Given the description of an element on the screen output the (x, y) to click on. 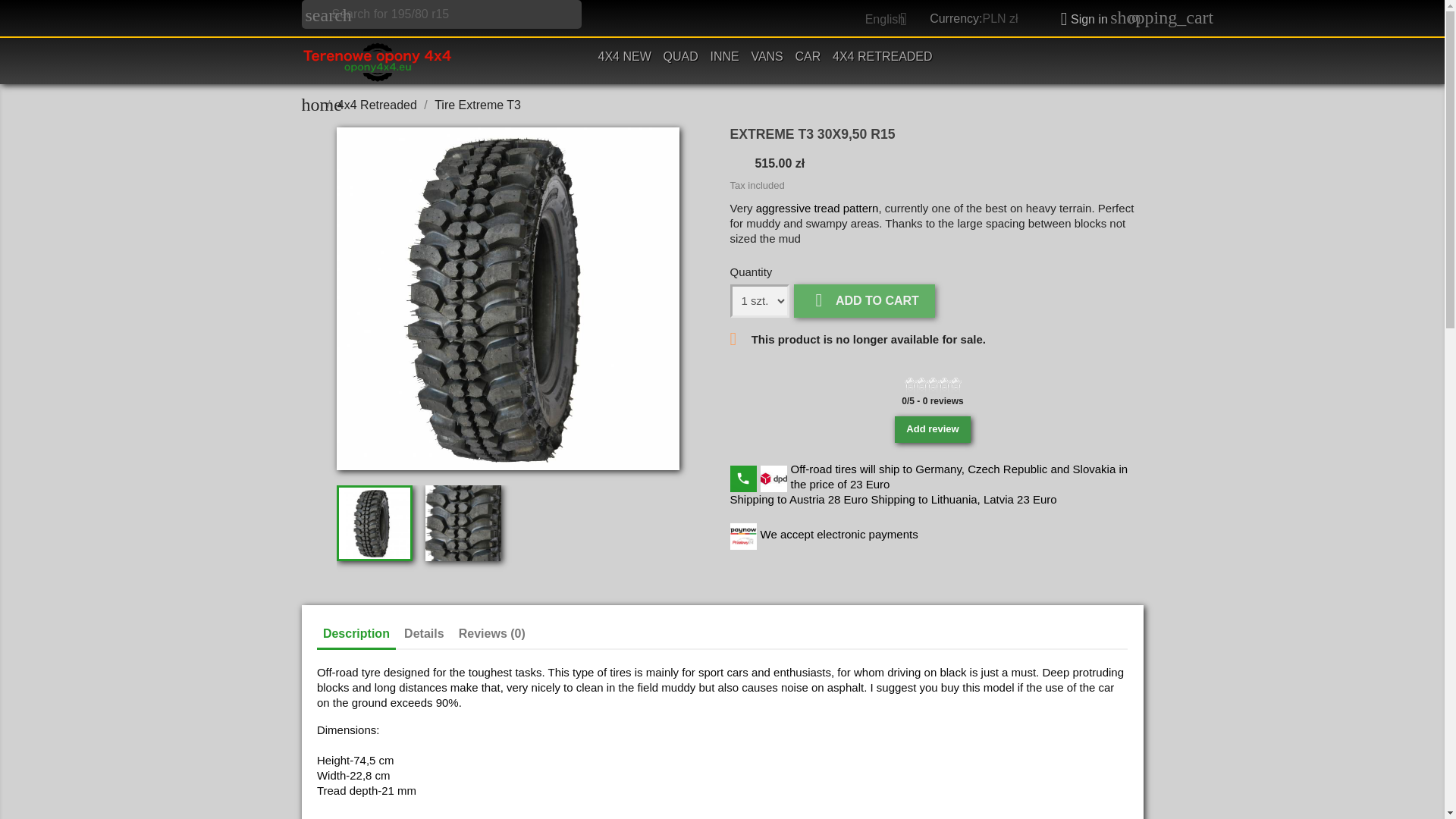
Off-road tire Extreme T3 30x9,50 R15 company Pneus Ovada (374, 523)
Off-road tire (817, 207)
Off-road tire Extreme T3 30x9,50 R15 company Pneus Ovada (462, 523)
Search (34, 14)
Off-road tire Extreme T3 30x9,50 R15 company Pneus Ovada (507, 298)
Log in to your customer account (1078, 19)
4X4 NEW (625, 57)
QUAD (681, 57)
